Given the description of an element on the screen output the (x, y) to click on. 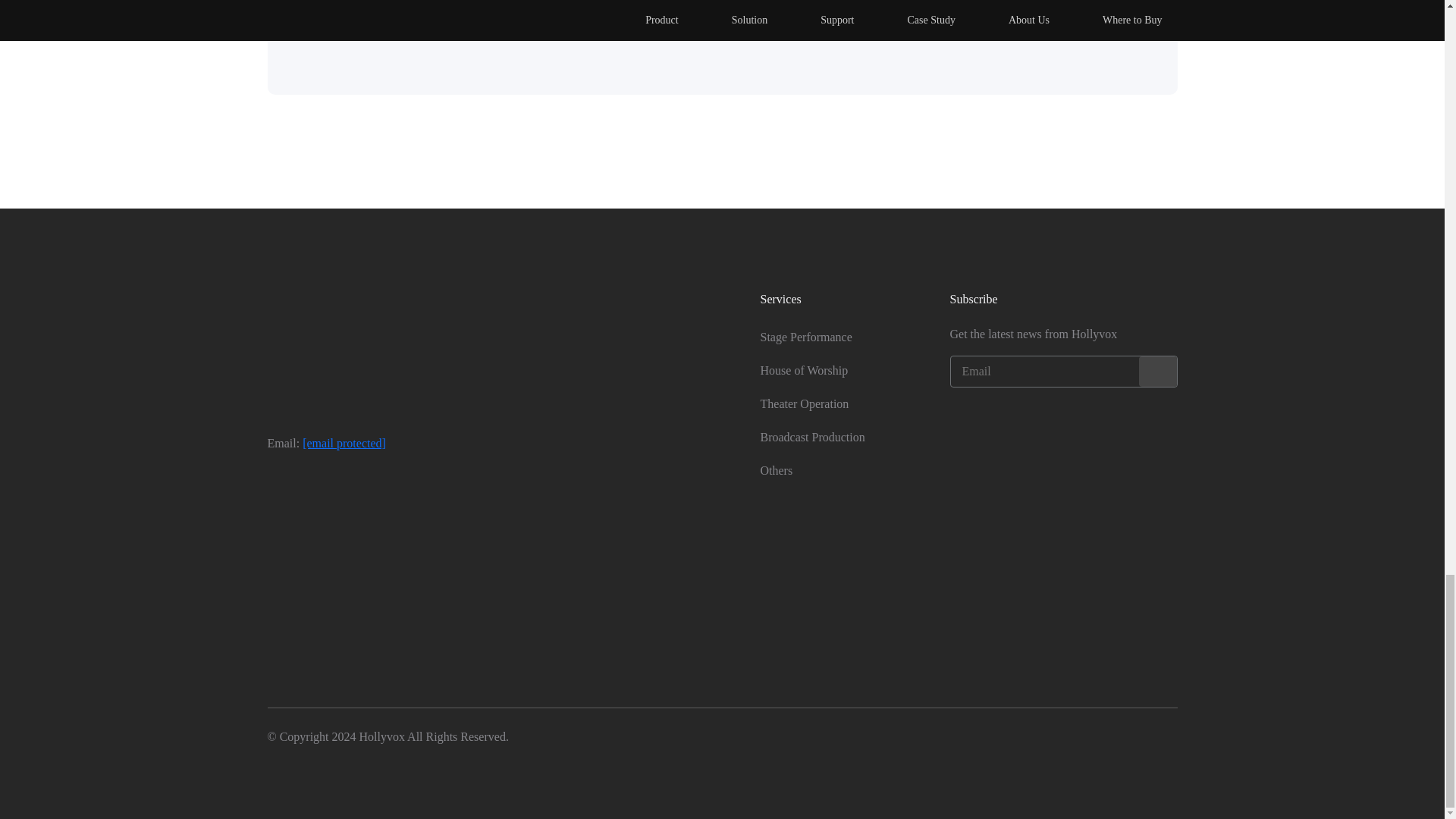
House of Worship (803, 369)
Stage Performance (805, 336)
Subscribe (1157, 371)
